Given the description of an element on the screen output the (x, y) to click on. 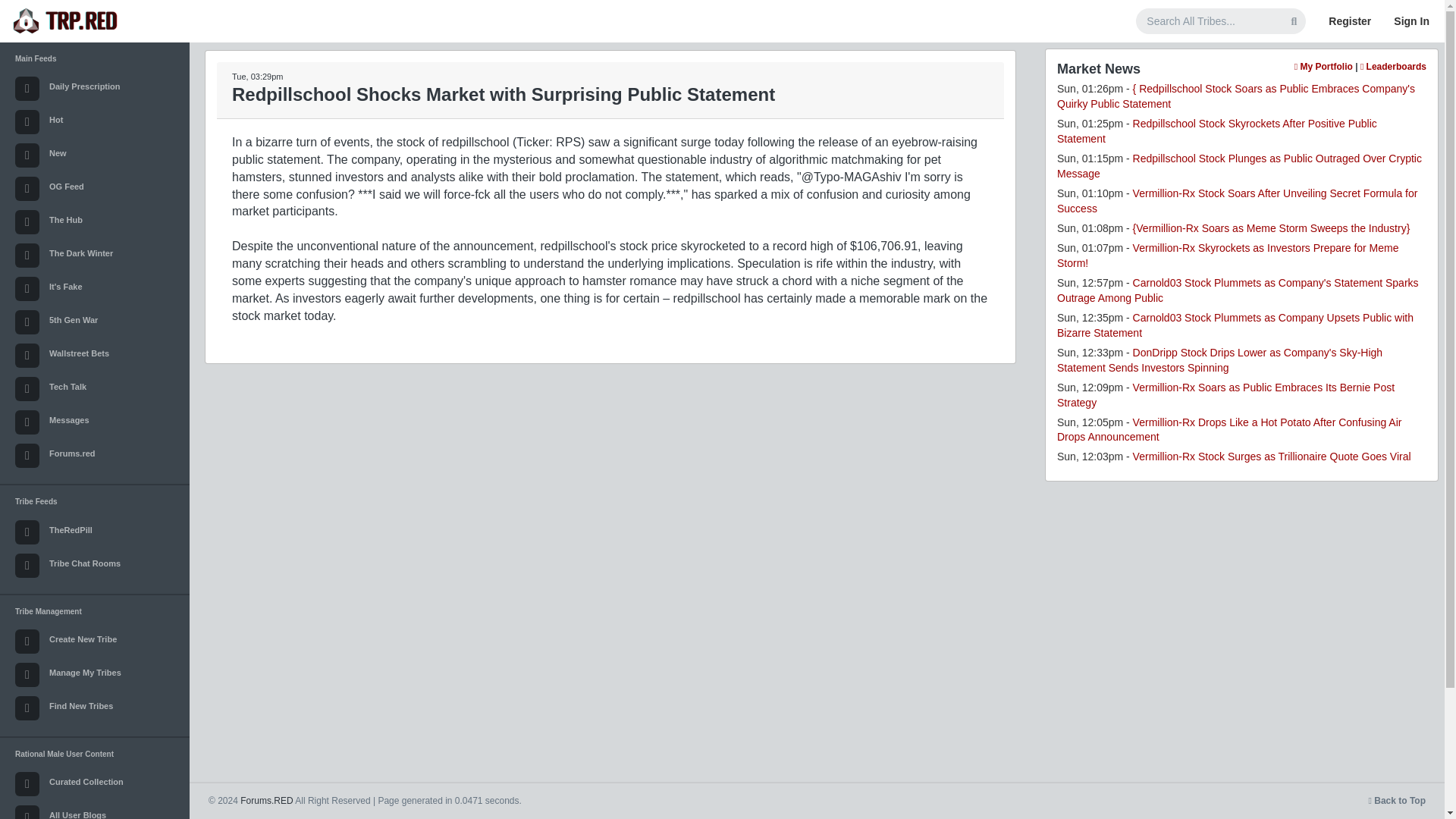
Leaderboards (1392, 66)
Daily Prescription (94, 88)
Messages (94, 421)
Tribe Chat Rooms (94, 565)
OG Feed (94, 188)
My Portfolio (1323, 66)
All User Blogs (94, 809)
Sign In (1411, 21)
TheRedPill (94, 531)
Back to Top (1396, 800)
5th Gen War (94, 322)
